Given the description of an element on the screen output the (x, y) to click on. 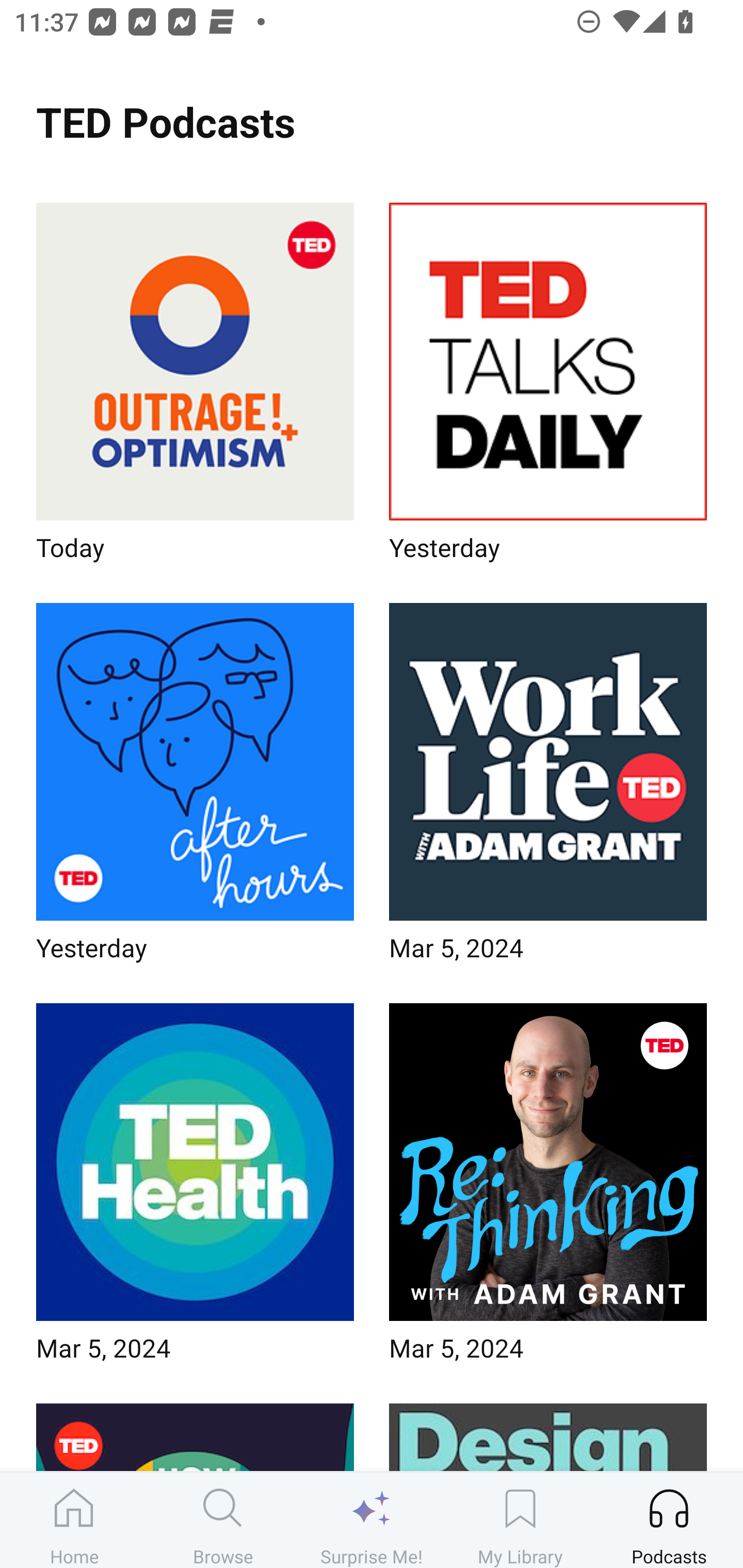
Today (194, 387)
Yesterday (547, 387)
Yesterday (194, 788)
Mar 5, 2024 (547, 788)
Mar 5, 2024 (194, 1189)
Mar 5, 2024 (547, 1189)
Home (74, 1520)
Browse (222, 1520)
Surprise Me! (371, 1520)
My Library (519, 1520)
Podcasts (668, 1520)
